Given the description of an element on the screen output the (x, y) to click on. 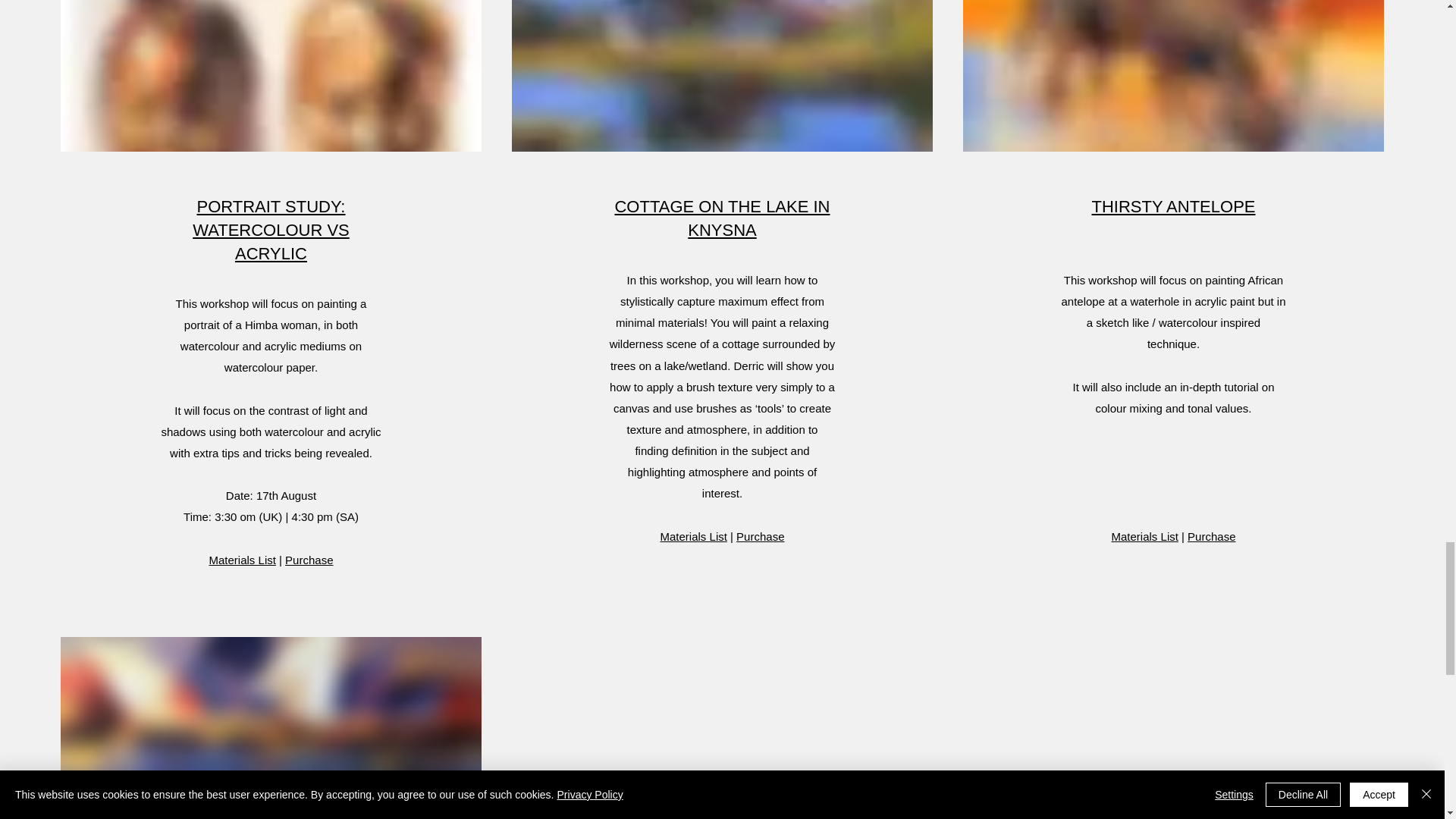
THIRSTY ANTELOPE (1173, 206)
Purchase (1211, 535)
Materials List (242, 559)
COTTAGE ON THE LAKE IN KNYSNA (721, 218)
Purchase (309, 559)
Purchase (760, 535)
PORTRAIT STUDY: WATERCOLOUR VS ACRYLIC (270, 229)
Materials List (1144, 535)
Materials List (693, 535)
